Given the description of an element on the screen output the (x, y) to click on. 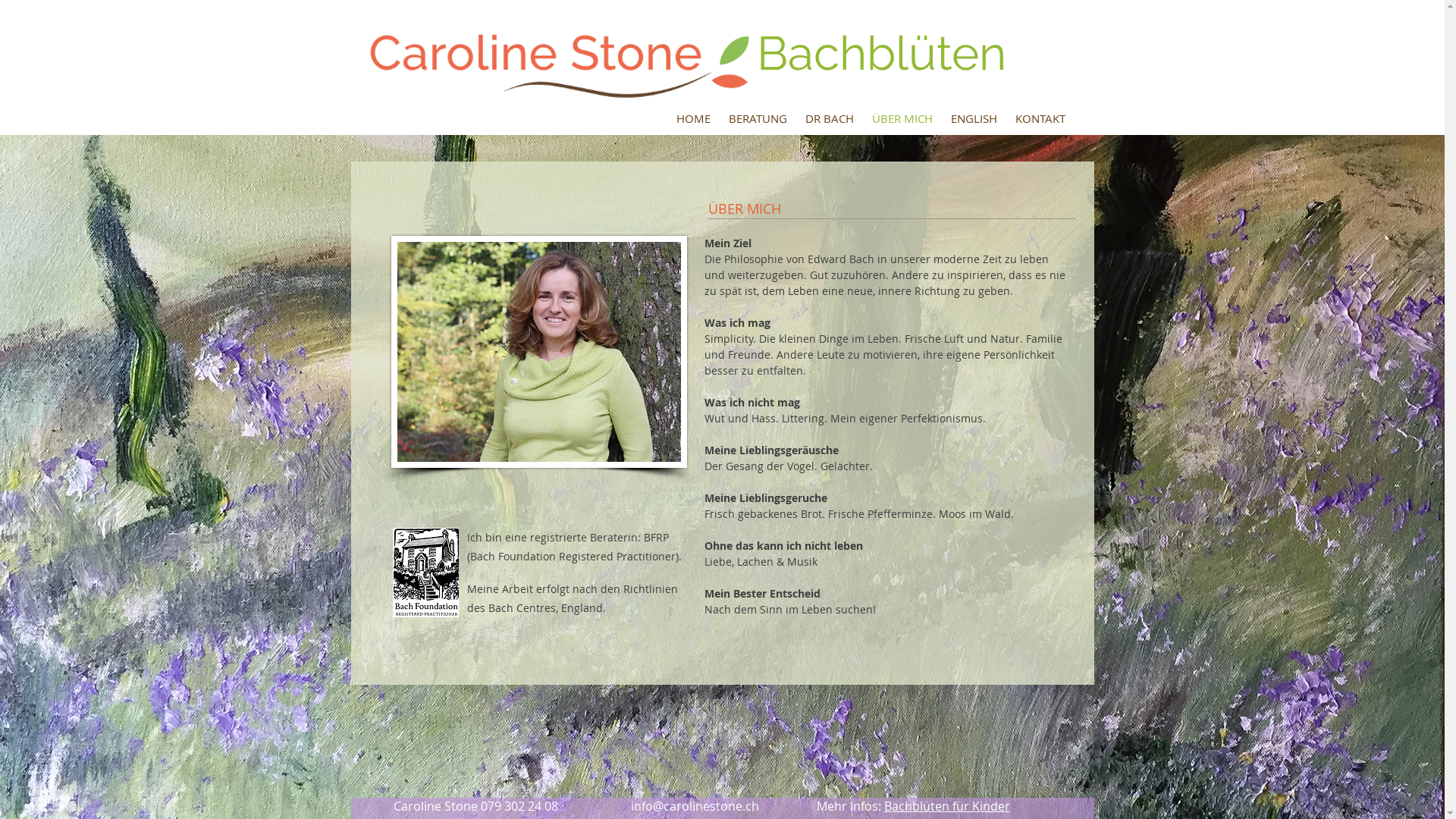
ENGLISH Element type: text (973, 118)
BERATUNG Element type: text (756, 118)
KONTAKT Element type: text (1039, 118)
info@carolinestone.ch Element type: text (694, 805)
HOME Element type: text (693, 118)
DR BACH Element type: text (829, 118)
